Given the description of an element on the screen output the (x, y) to click on. 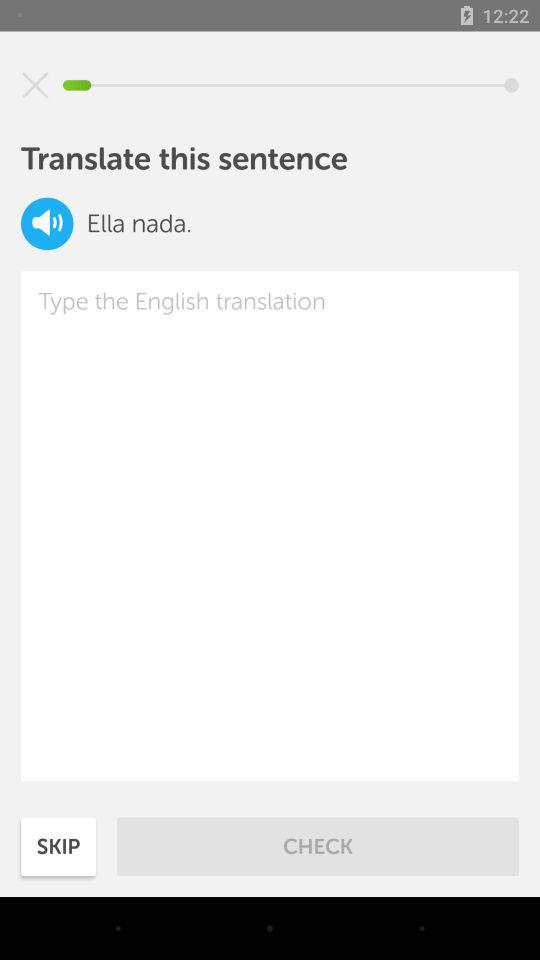
turn off item to the right of the skip item (318, 846)
